Given the description of an element on the screen output the (x, y) to click on. 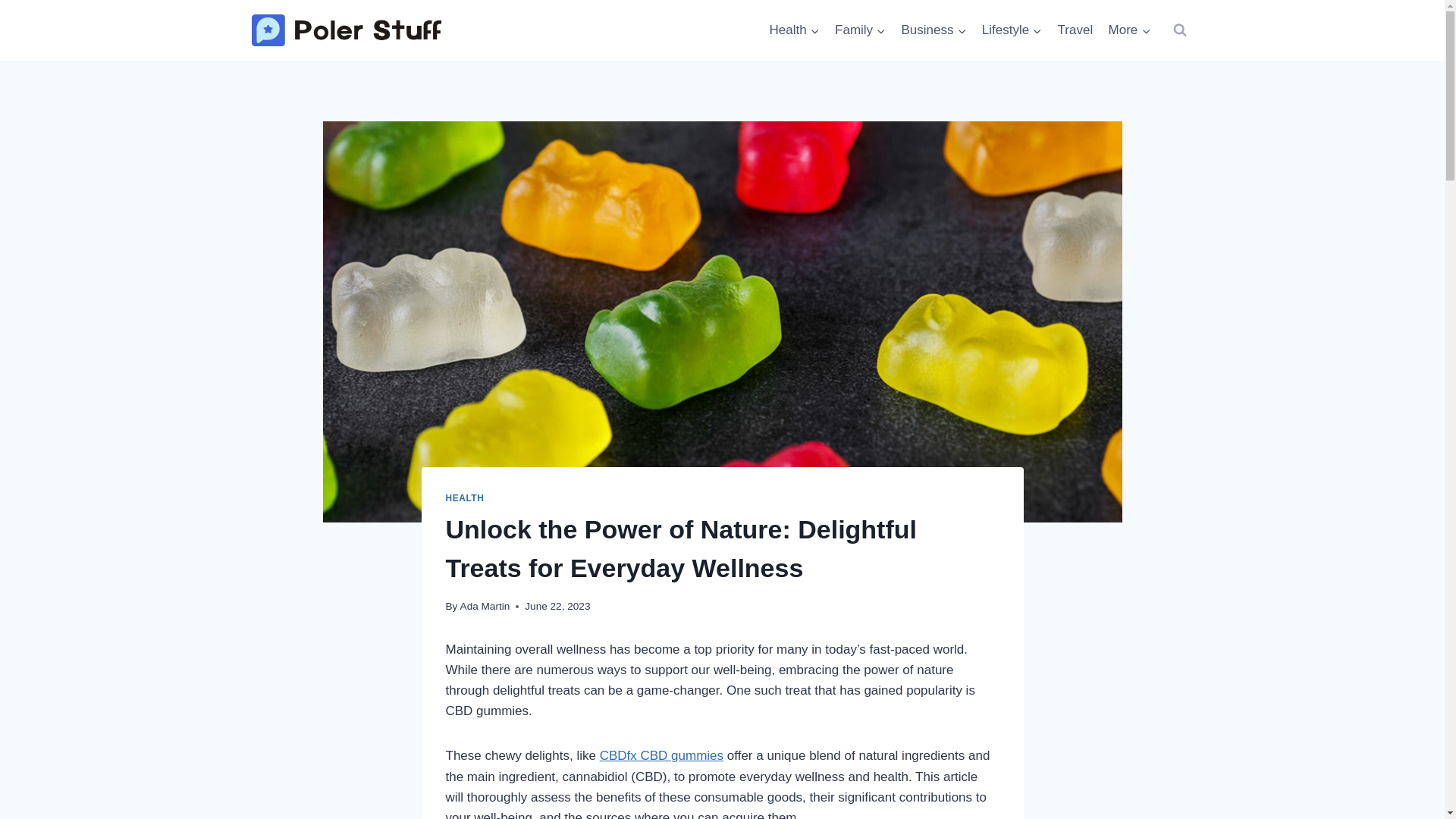
Business (860, 30)
Travel (794, 30)
More (933, 30)
Family (1074, 30)
Lifestyle (1128, 30)
Health (933, 30)
